Given the description of an element on the screen output the (x, y) to click on. 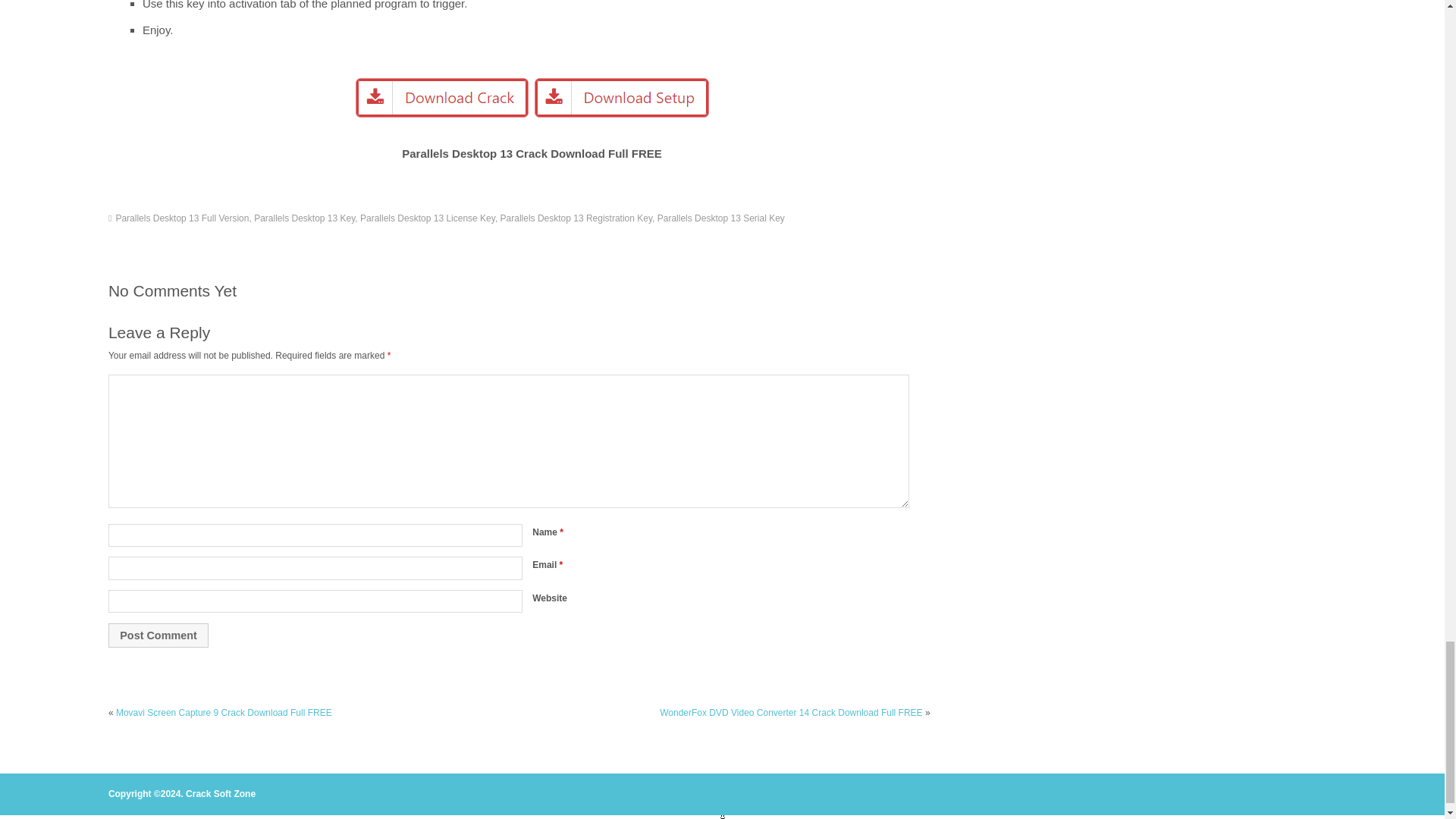
Parallels Desktop 13 Registration Key (576, 217)
Post Comment (157, 635)
Post Comment (157, 635)
WonderFox DVD Video Converter 14 Crack Download Full FREE (790, 712)
Parallels Desktop 13 License Key (427, 217)
Movavi Screen Capture 9 Crack Download Full FREE (223, 712)
Parallels Desktop 13 Serial Key (721, 217)
Parallels Desktop 13 Full Version (181, 217)
Parallels Desktop 13 Key (304, 217)
